Given the description of an element on the screen output the (x, y) to click on. 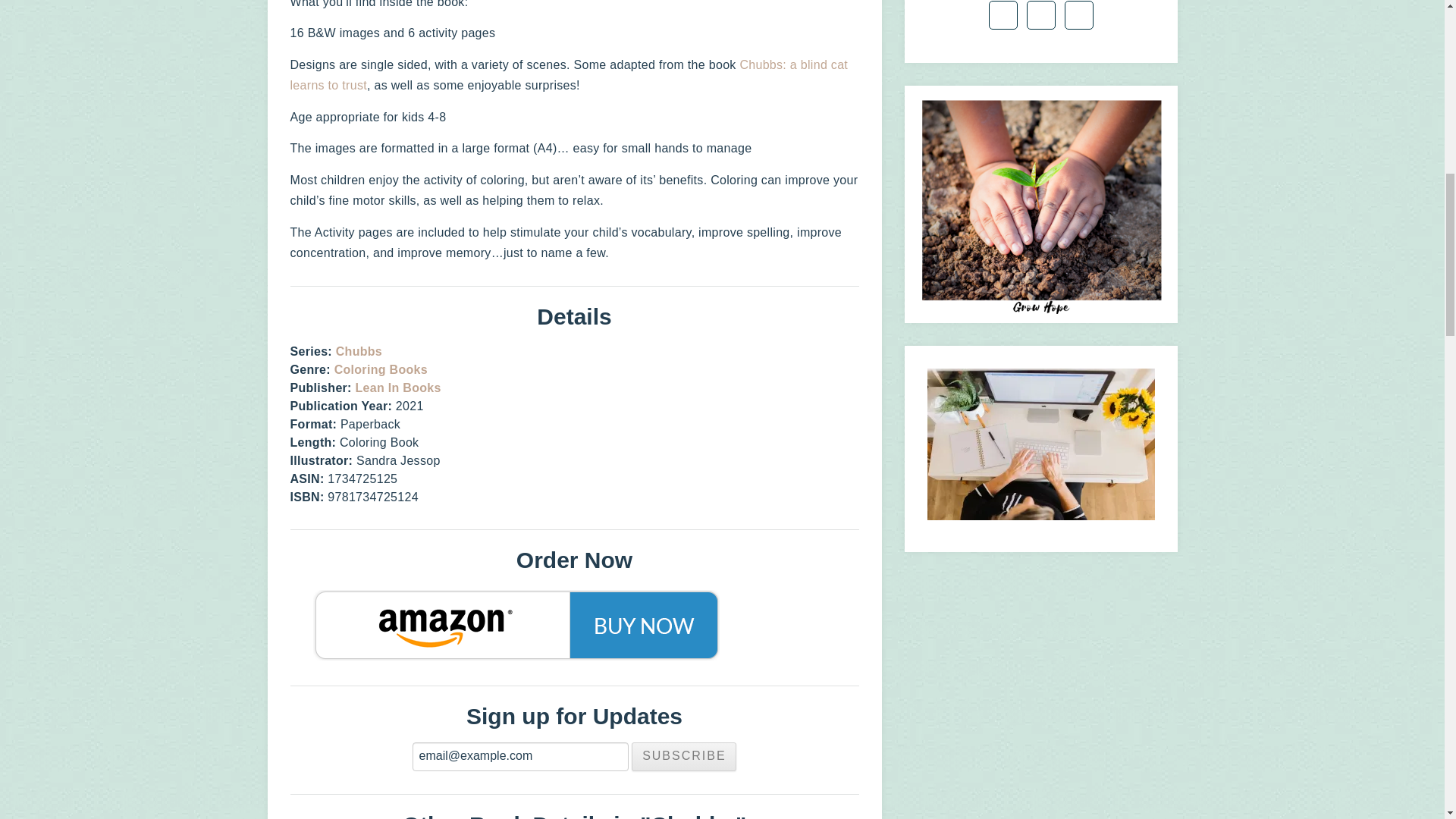
Coloring Books (381, 369)
Subscribe (683, 756)
Chubbs (358, 350)
Subscribe (683, 756)
Lean In Books (398, 387)
Chubbs: a blind cat learns to trust (568, 74)
